Given the description of an element on the screen output the (x, y) to click on. 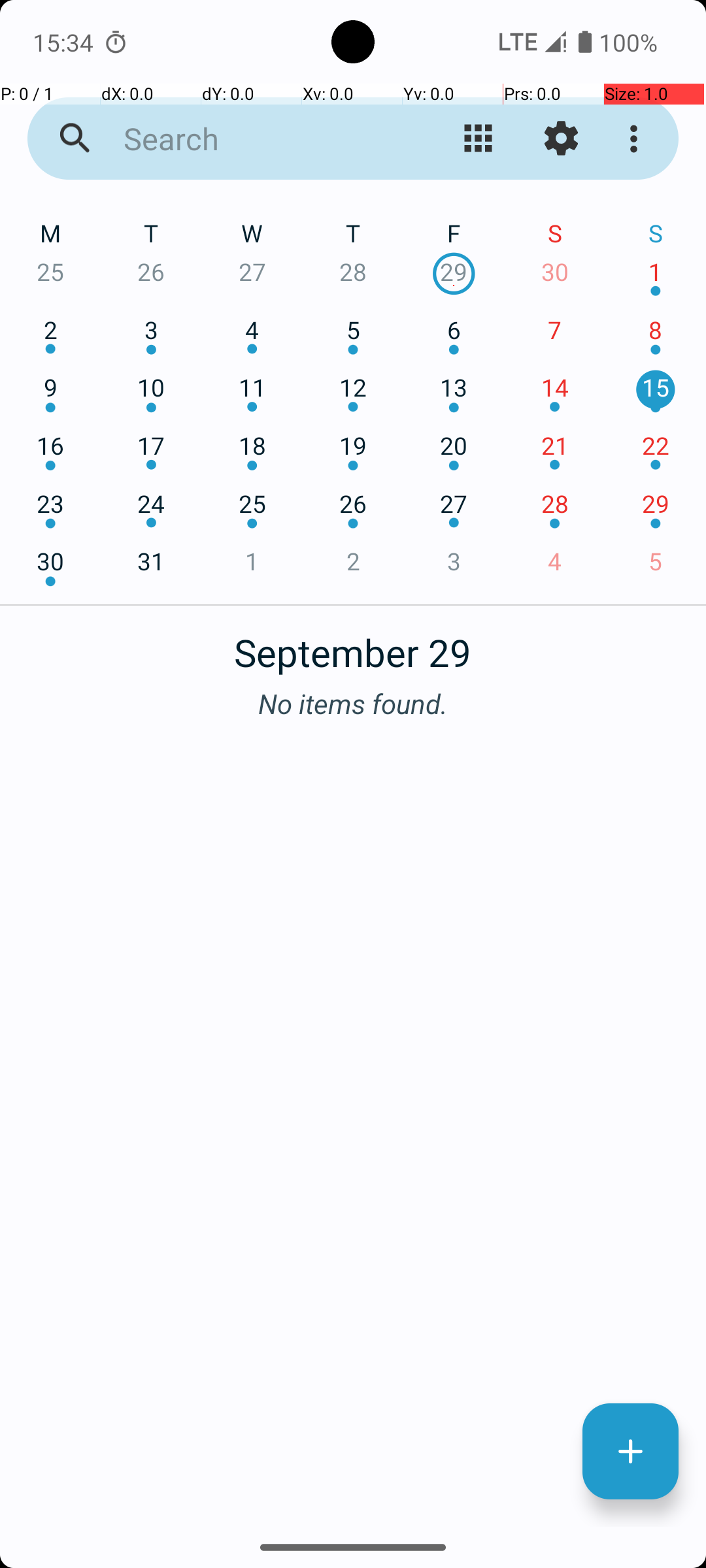
September 29 Element type: android.widget.TextView (352, 644)
